Given the description of an element on the screen output the (x, y) to click on. 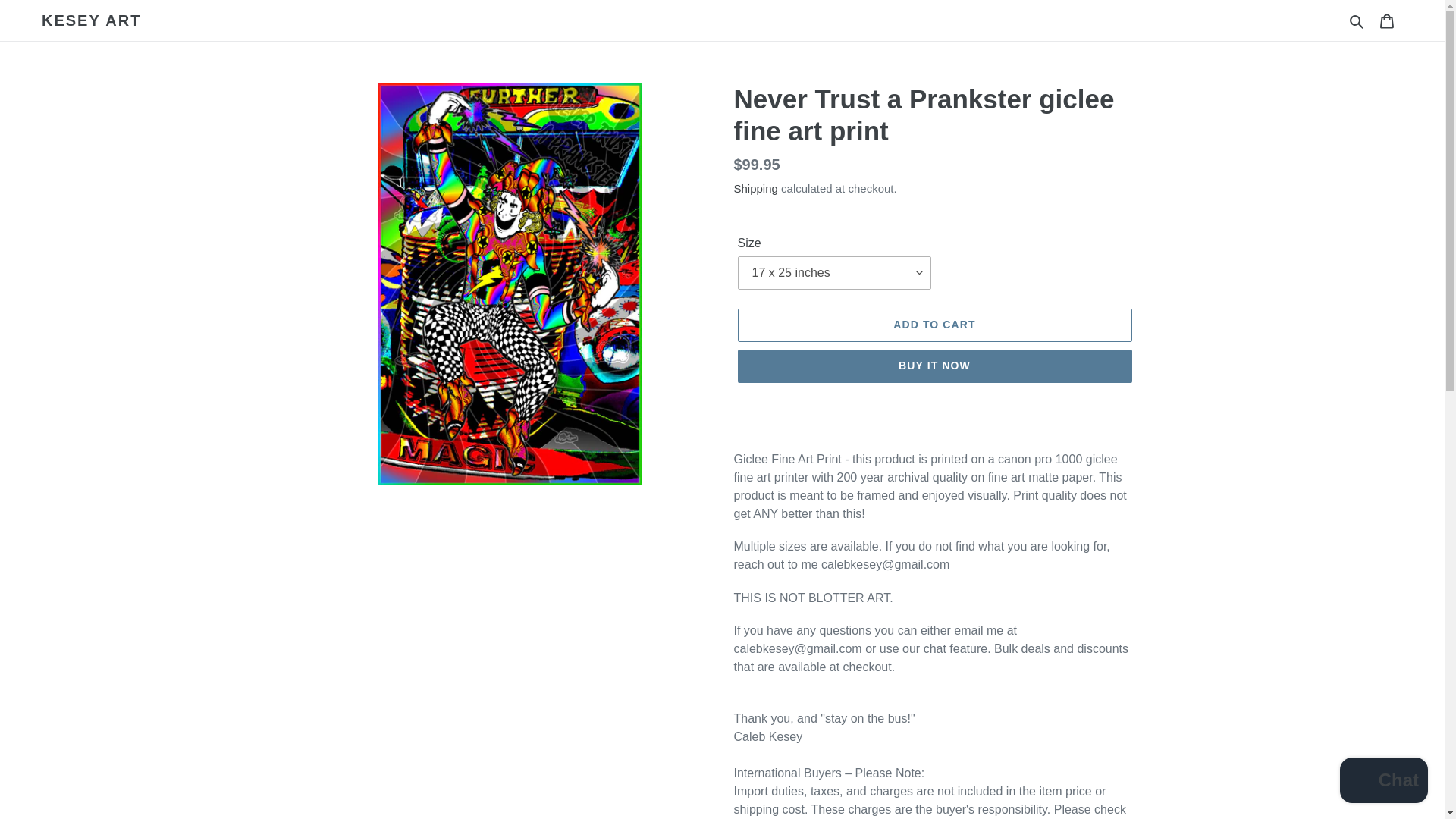
Cart (1387, 20)
BUY IT NOW (933, 366)
Shipping (755, 188)
Shopify online store chat (1383, 781)
ADD TO CART (933, 325)
KESEY ART (91, 20)
Search (1357, 20)
